Given the description of an element on the screen output the (x, y) to click on. 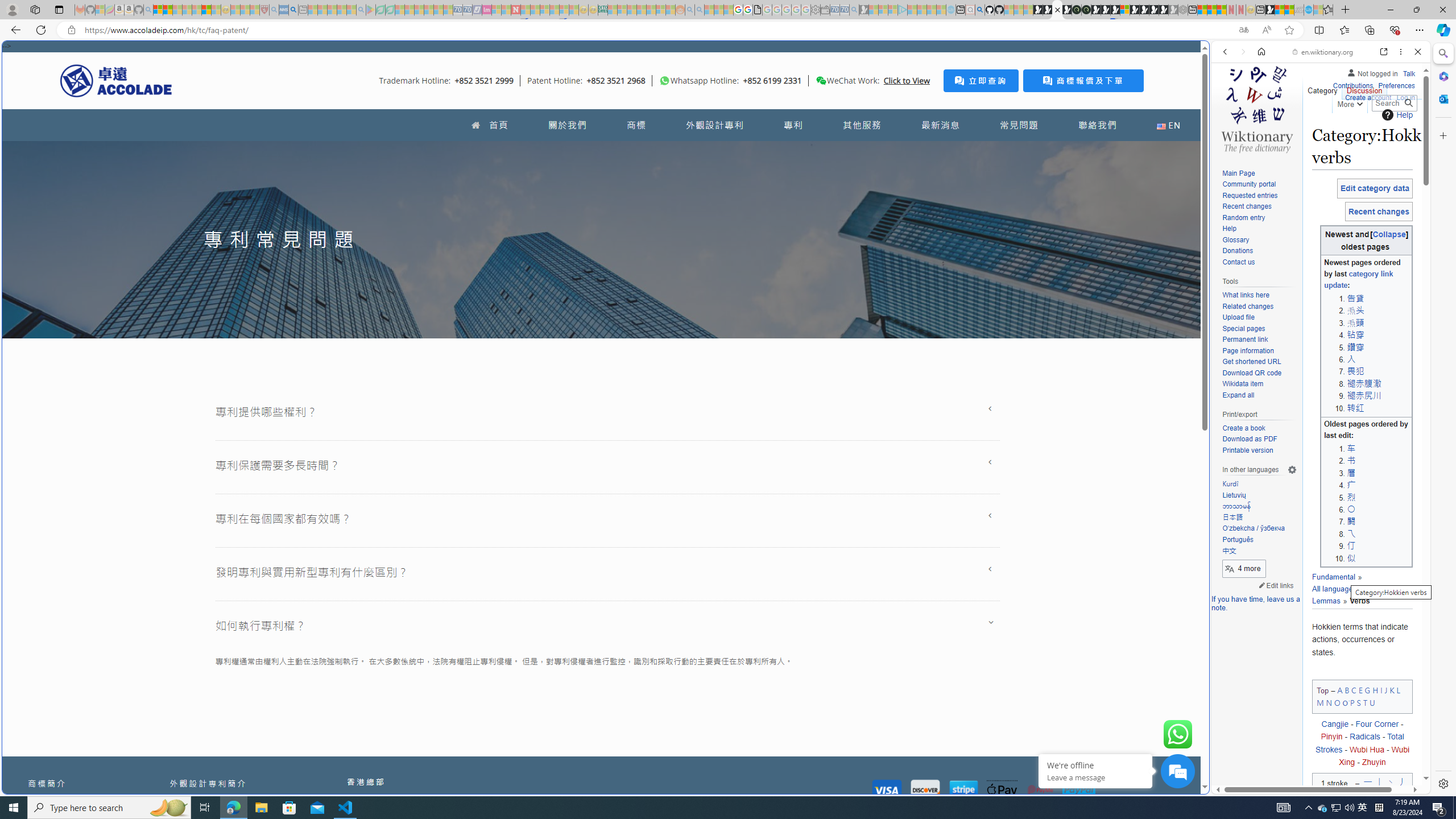
Category (1322, 87)
J (1385, 689)
K (1391, 689)
